Given the description of an element on the screen output the (x, y) to click on. 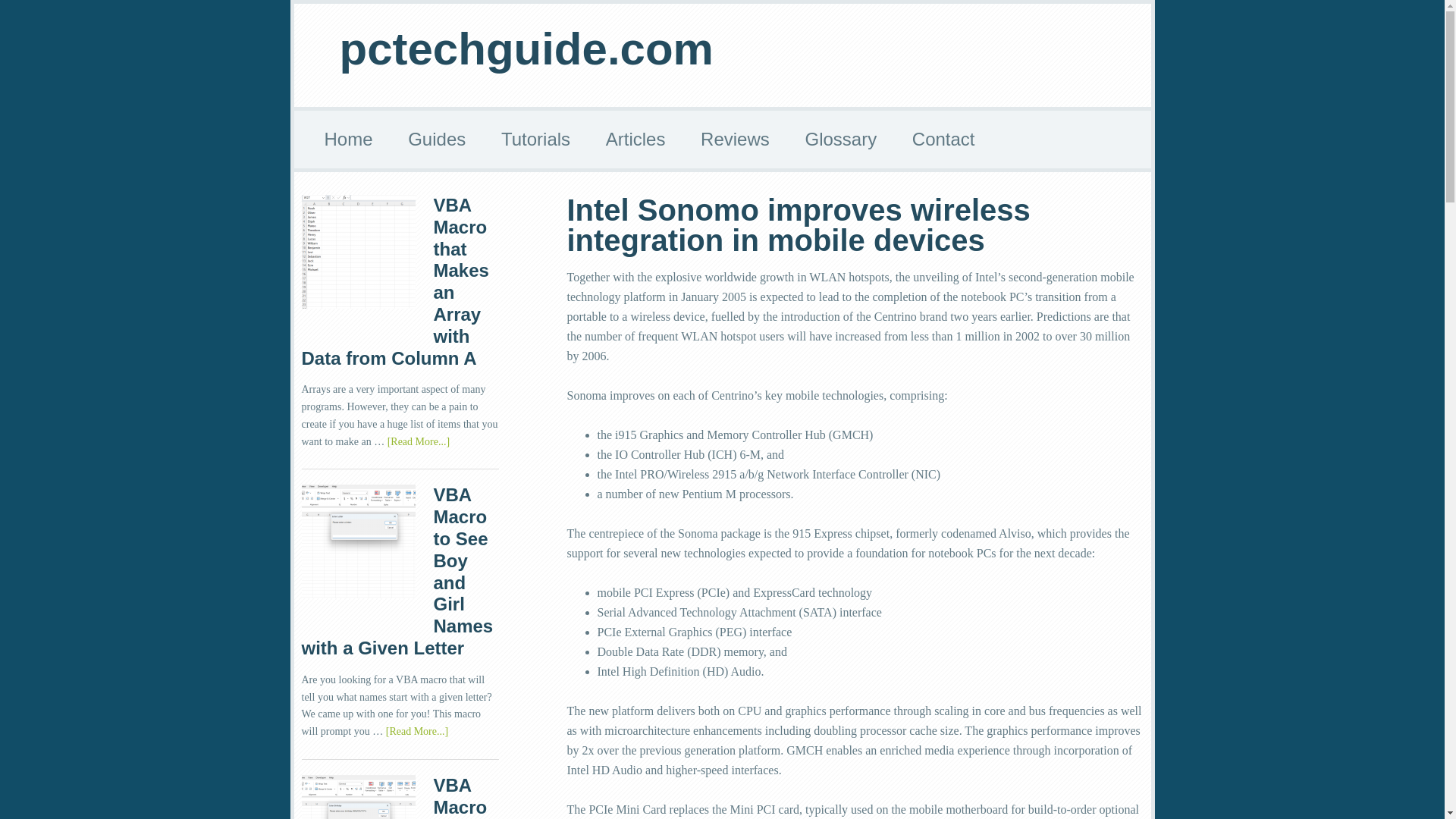
Tutorials (535, 139)
Computer Guides (436, 139)
Home (348, 139)
Articles (636, 139)
Glossary (840, 139)
Guides (436, 139)
PC Tech Guide (348, 139)
Contact (943, 139)
Tutorials (535, 139)
pctechguide.com (526, 48)
